Given the description of an element on the screen output the (x, y) to click on. 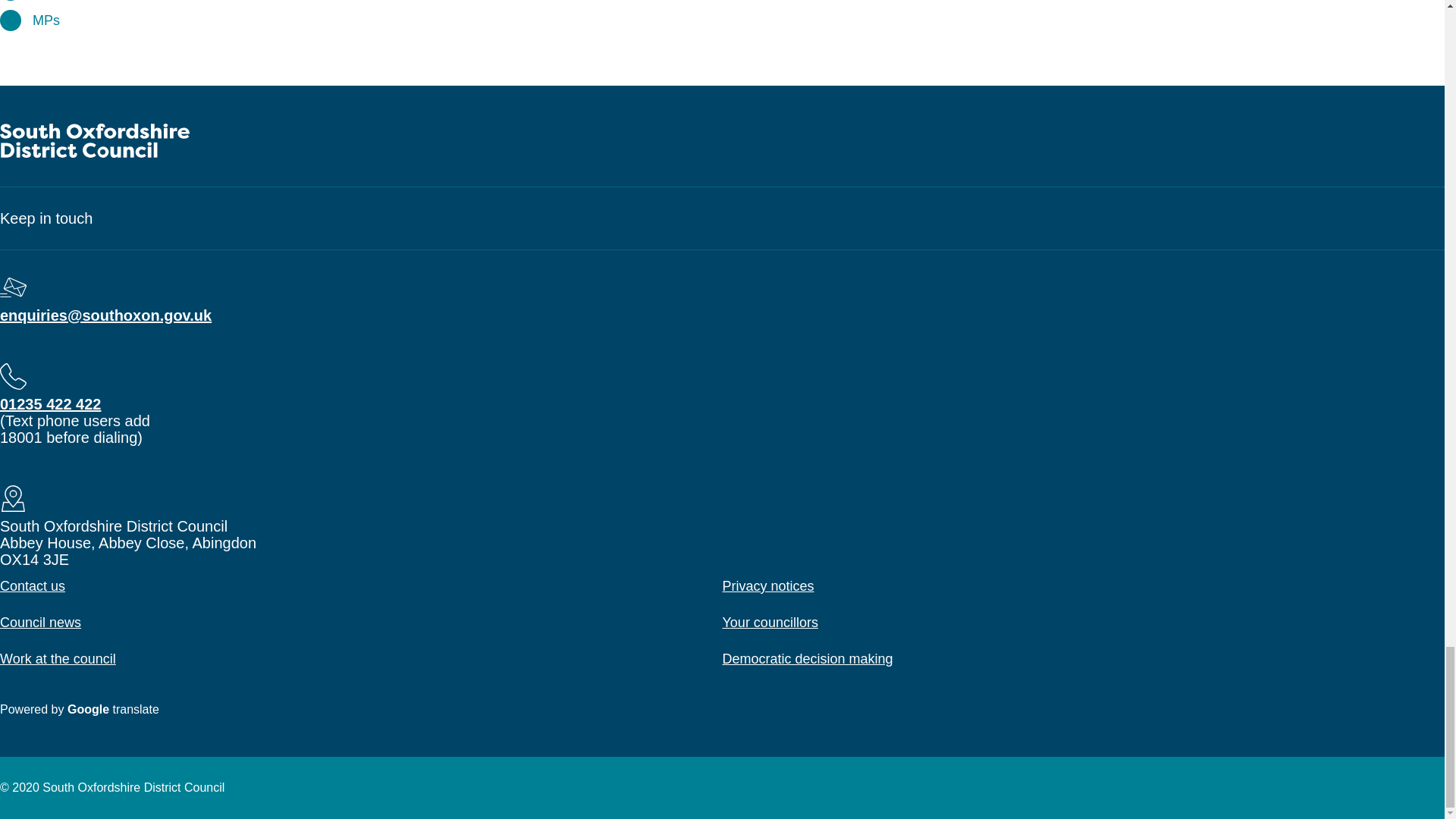
MPs (45, 20)
Privacy notices (767, 585)
What's new (66, 0)
Your councillors (769, 622)
Link to what's new (66, 0)
Work at the council (58, 658)
01235 422 422 (50, 403)
Contact us (32, 585)
Council news (40, 622)
